Given the description of an element on the screen output the (x, y) to click on. 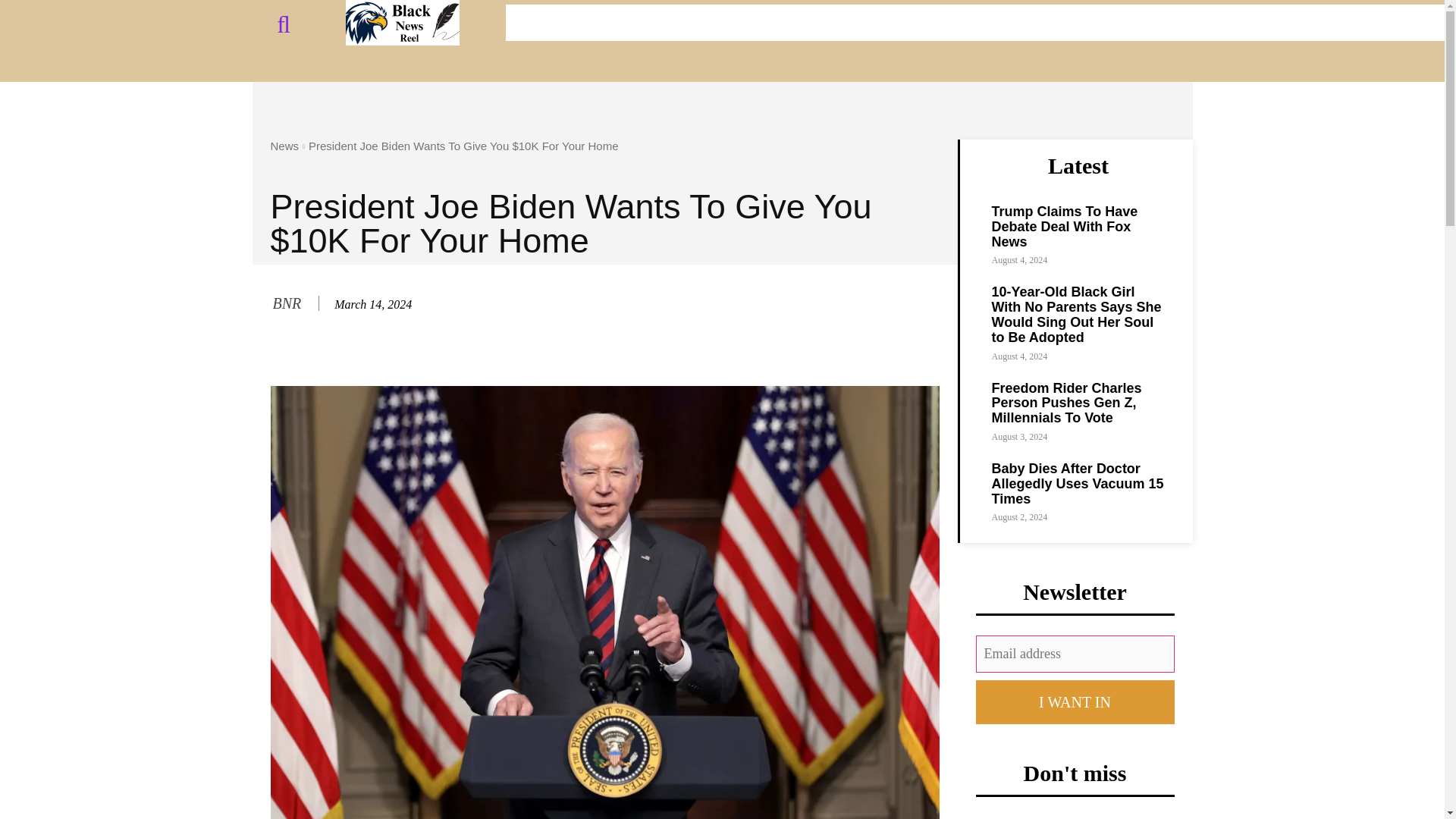
View all posts in News (283, 145)
